Given the description of an element on the screen output the (x, y) to click on. 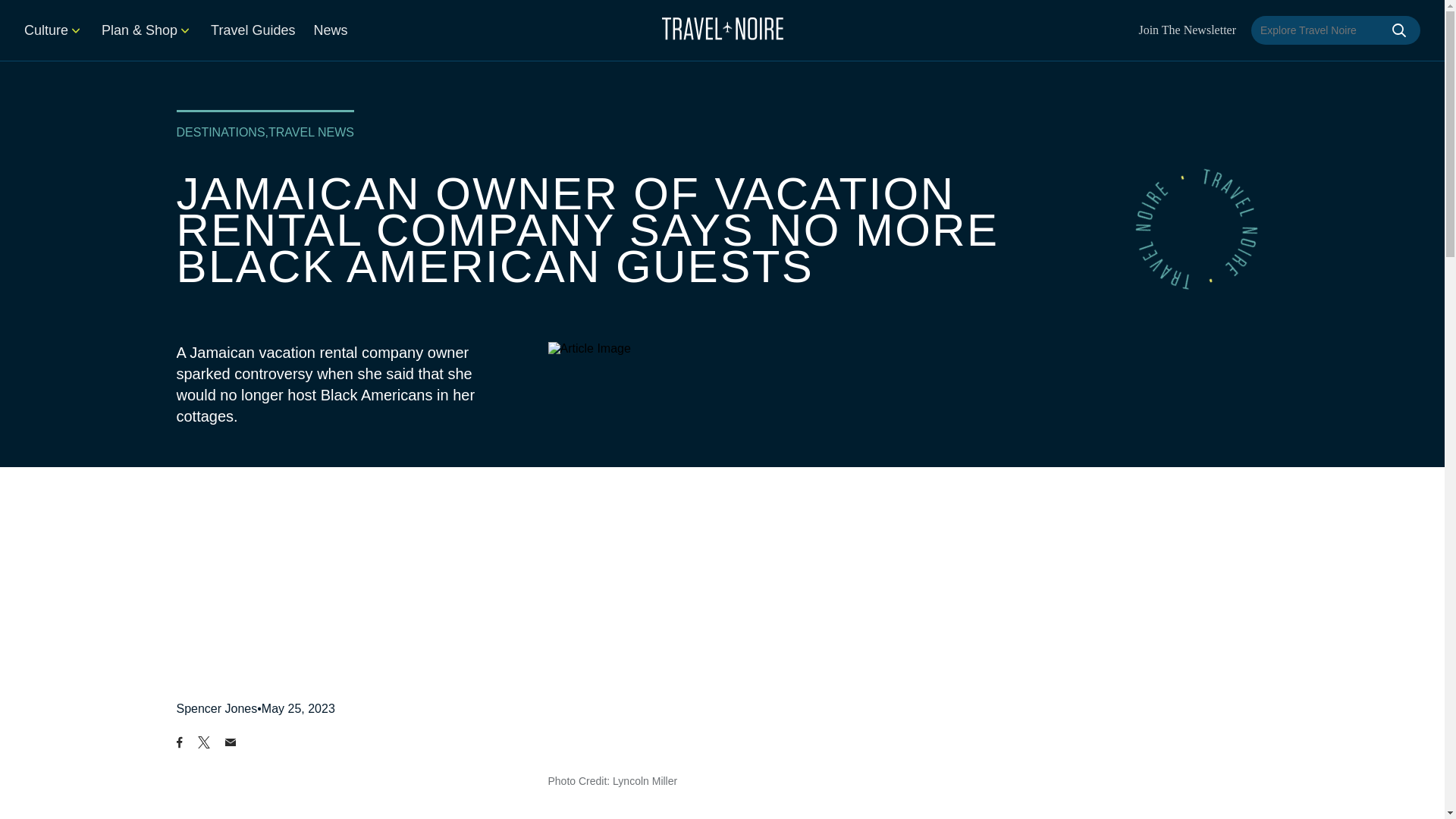
News (330, 29)
TRAVEL NEWS (310, 132)
Join The Newsletter (1187, 29)
Travel Noire (722, 28)
Culture (53, 30)
Travel Guides (253, 29)
Spencer Jones (216, 707)
DESTINATIONS (220, 132)
Newsletter (1187, 29)
Spencer Jones (216, 707)
